Given the description of an element on the screen output the (x, y) to click on. 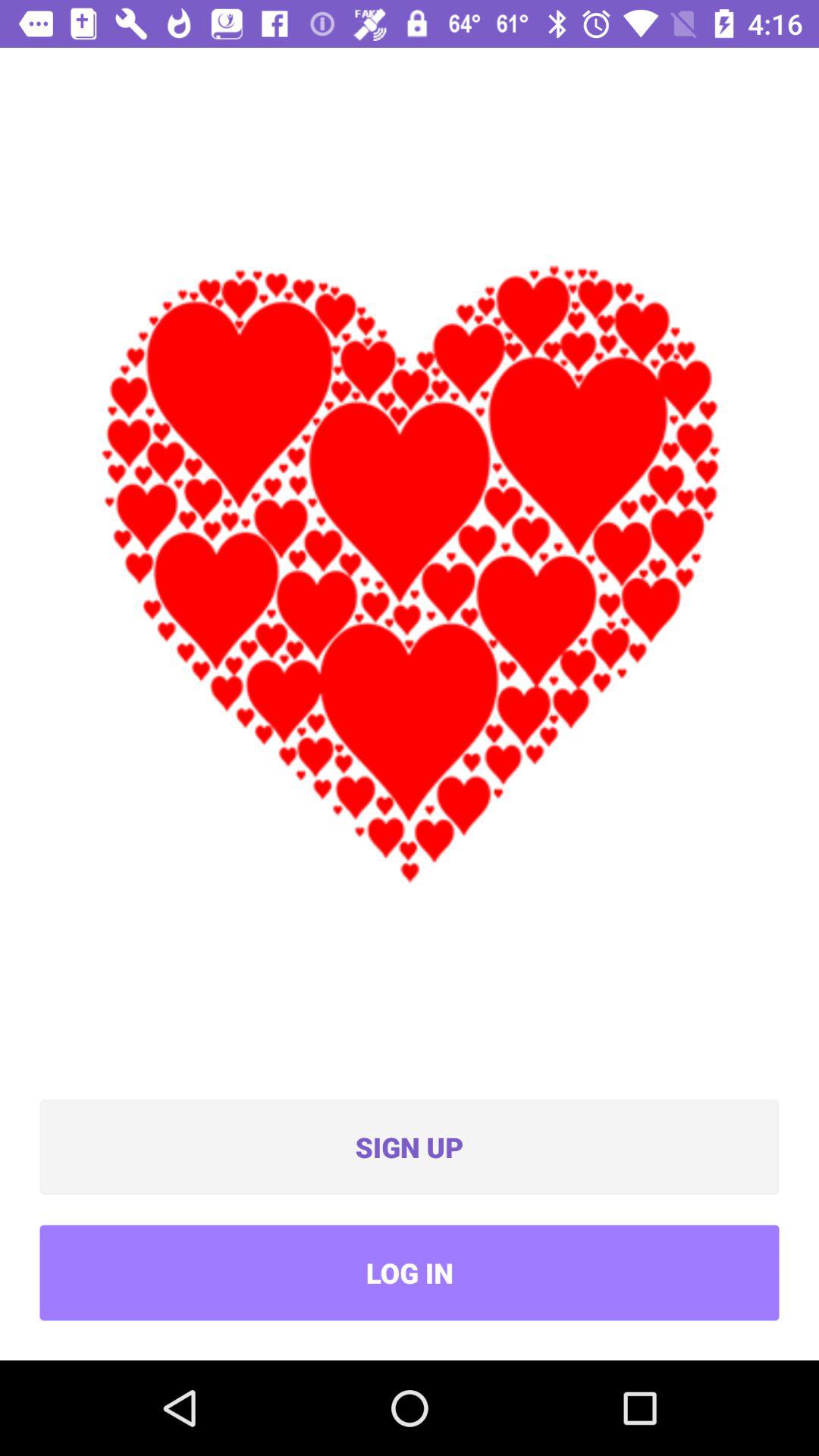
flip until the sign up item (409, 1146)
